Given the description of an element on the screen output the (x, y) to click on. 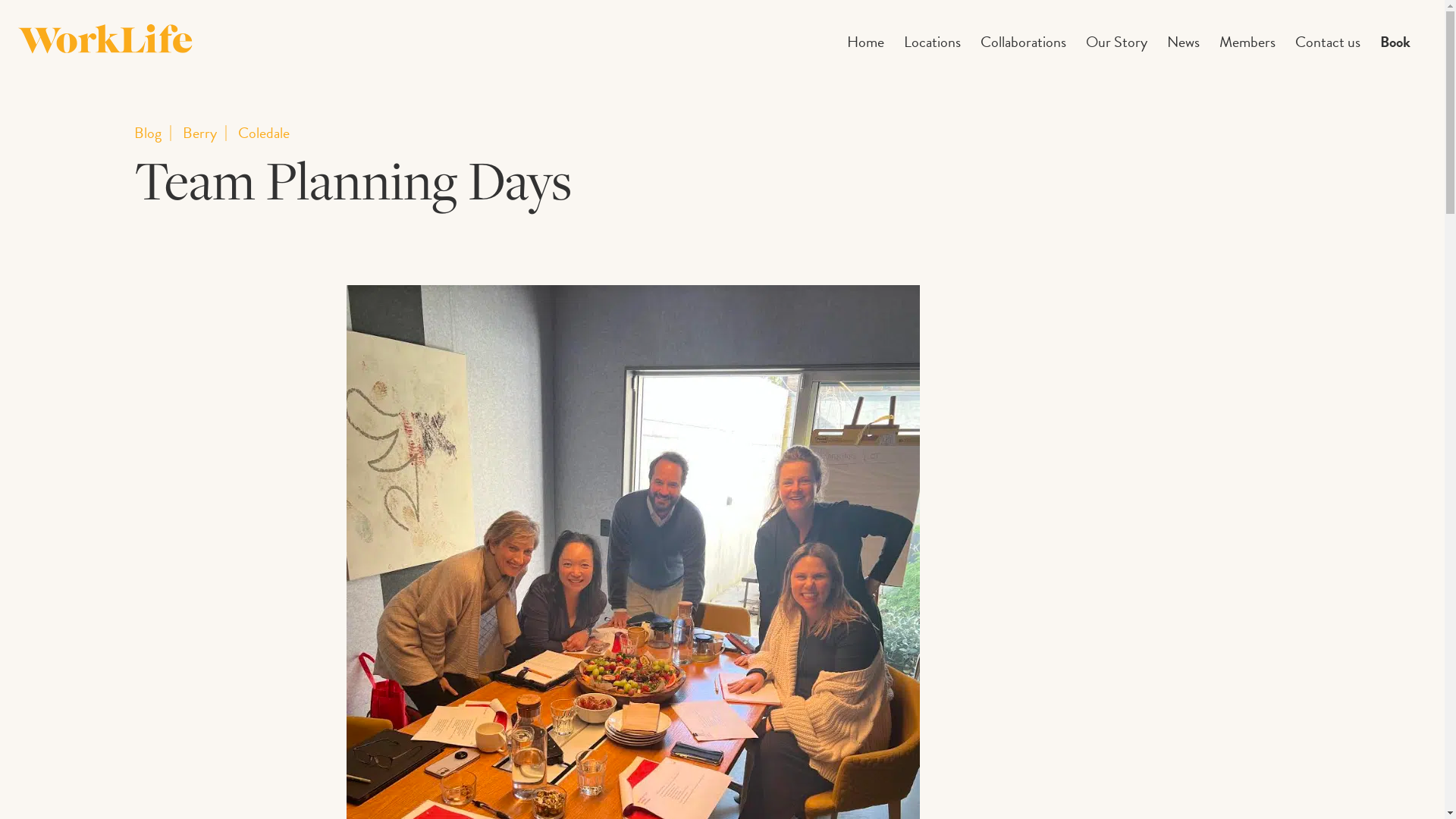
Members Element type: text (1247, 41)
Book Element type: text (1395, 41)
Contact us Element type: text (1327, 41)
Our Story Element type: text (1116, 41)
News Element type: text (1183, 41)
Home Element type: text (865, 41)
Collaborations Element type: text (1023, 41)
Locations Element type: text (932, 41)
